Given the description of an element on the screen output the (x, y) to click on. 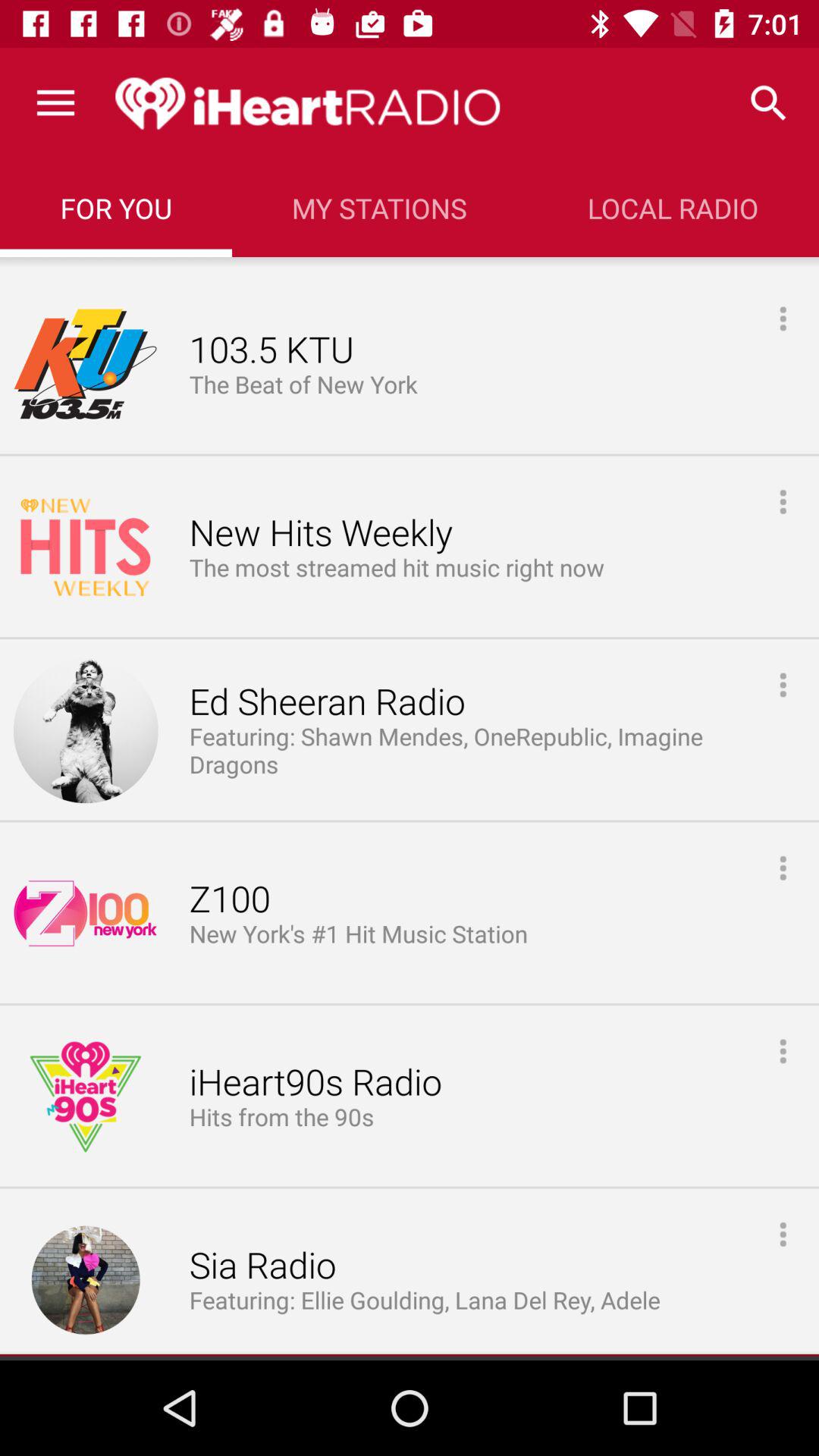
open the sia radio icon (262, 1266)
